Given the description of an element on the screen output the (x, y) to click on. 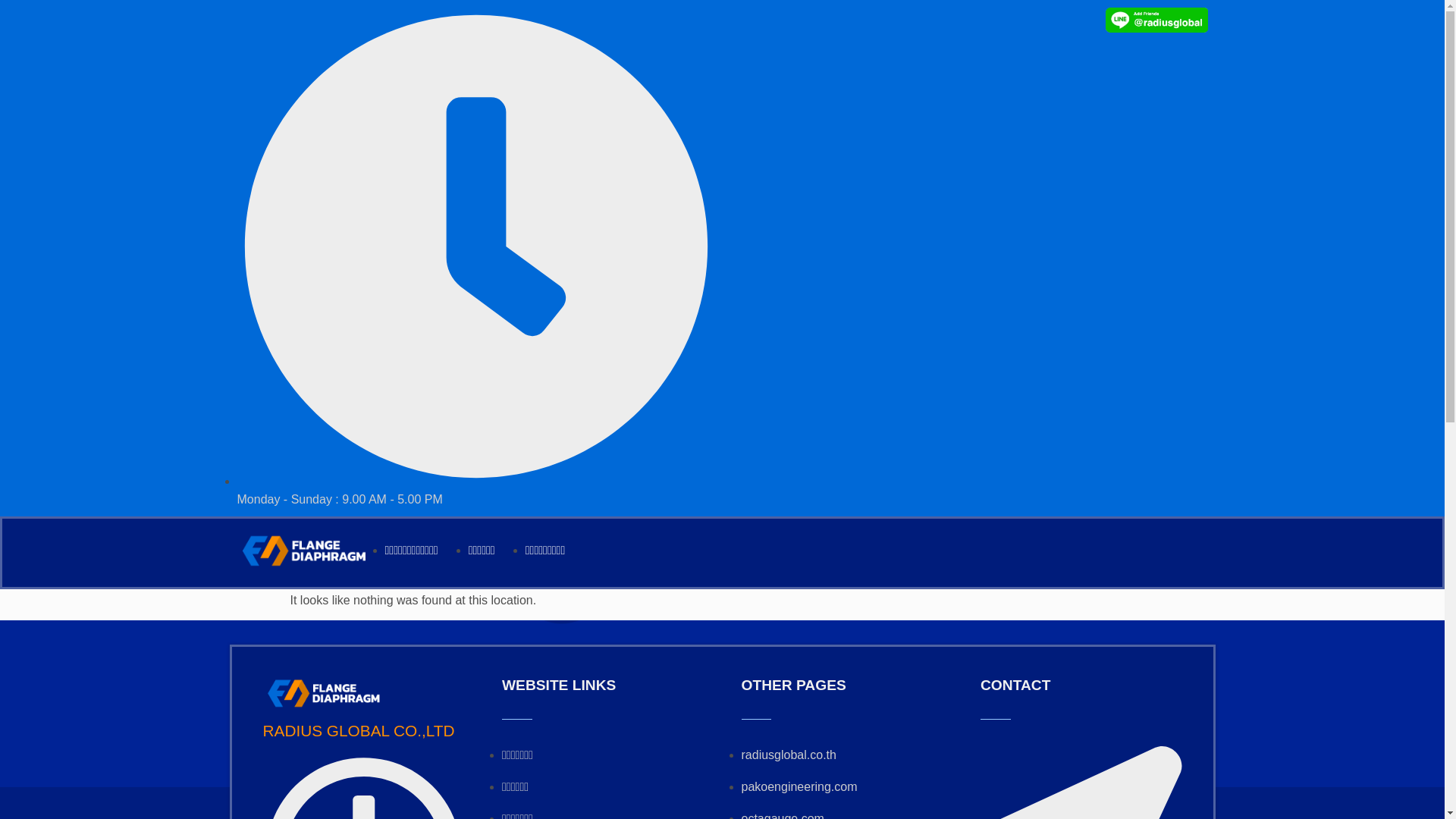
pakoengineering.com (799, 786)
radiusglobal.co.th (788, 754)
octagauge.com (782, 815)
